Given the description of an element on the screen output the (x, y) to click on. 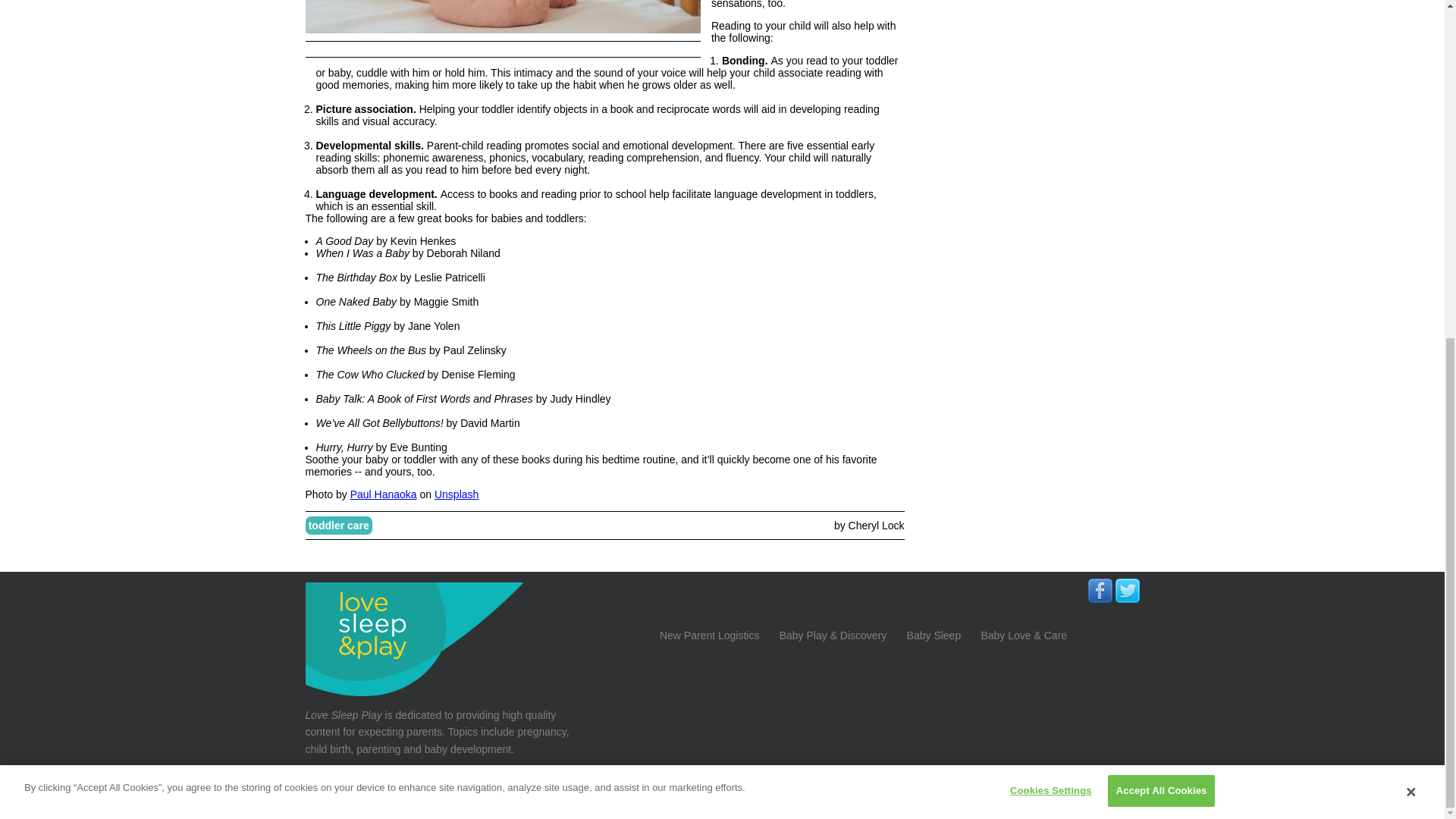
Unsplash (456, 494)
Baby Sleep (933, 634)
Privacy Policy (1015, 793)
Cookies Settings (1046, 220)
New Parent Logistics (709, 634)
toddler care (338, 525)
About Us (940, 793)
Accept All Cookies (1161, 220)
Paul Hanaoka (383, 494)
Terms of Use (1099, 793)
Advertisement (1024, 270)
Advertisement (1024, 86)
